Given the description of an element on the screen output the (x, y) to click on. 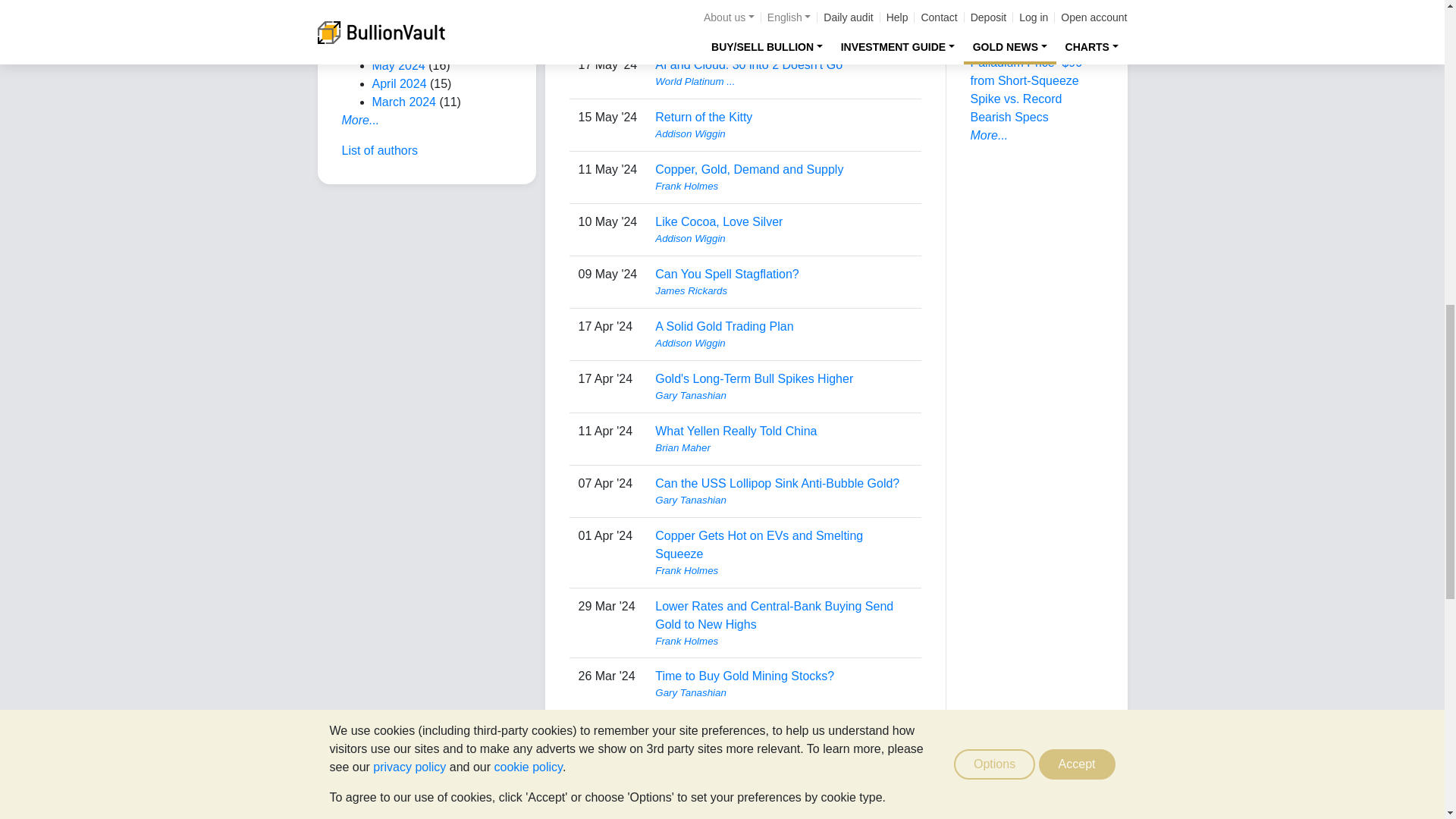
View user profile. (783, 29)
